Given the description of an element on the screen output the (x, y) to click on. 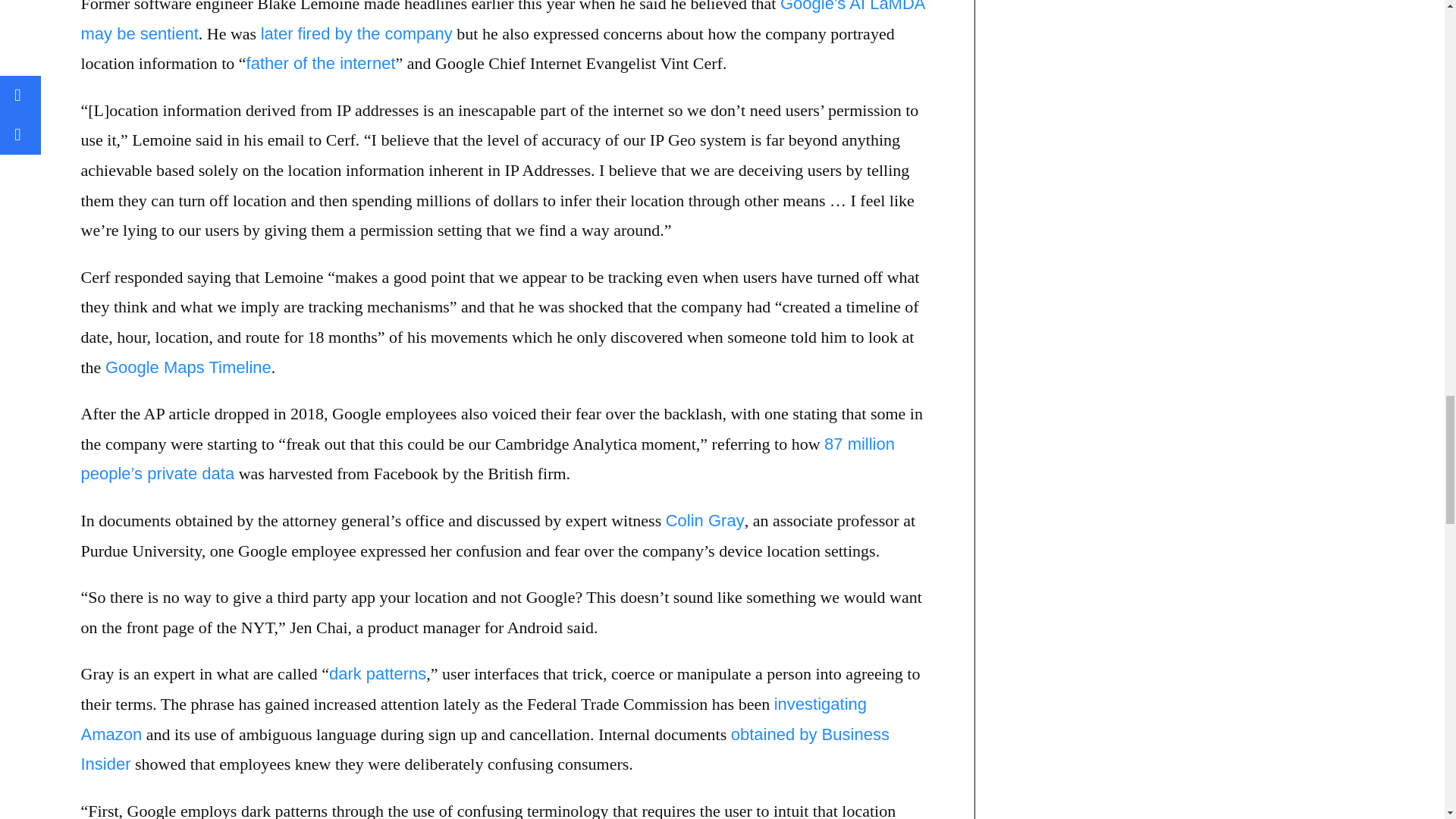
obtained by Business Insider (484, 748)
Google Maps Timeline (187, 366)
later fired by the company (356, 33)
dark patterns (377, 673)
investigating Amazon (473, 718)
father of the internet (321, 63)
Colin Gray (704, 520)
